Given the description of an element on the screen output the (x, y) to click on. 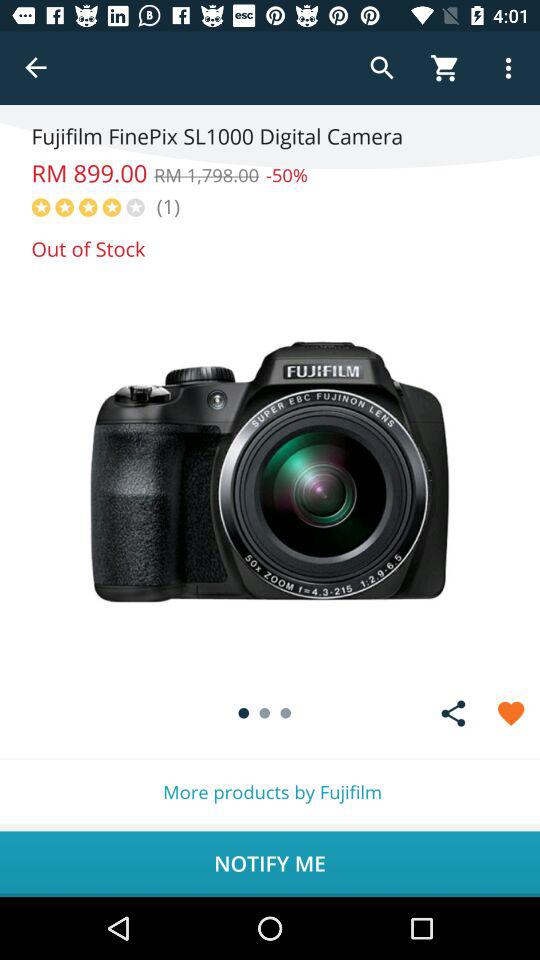
back button (36, 68)
